Given the description of an element on the screen output the (x, y) to click on. 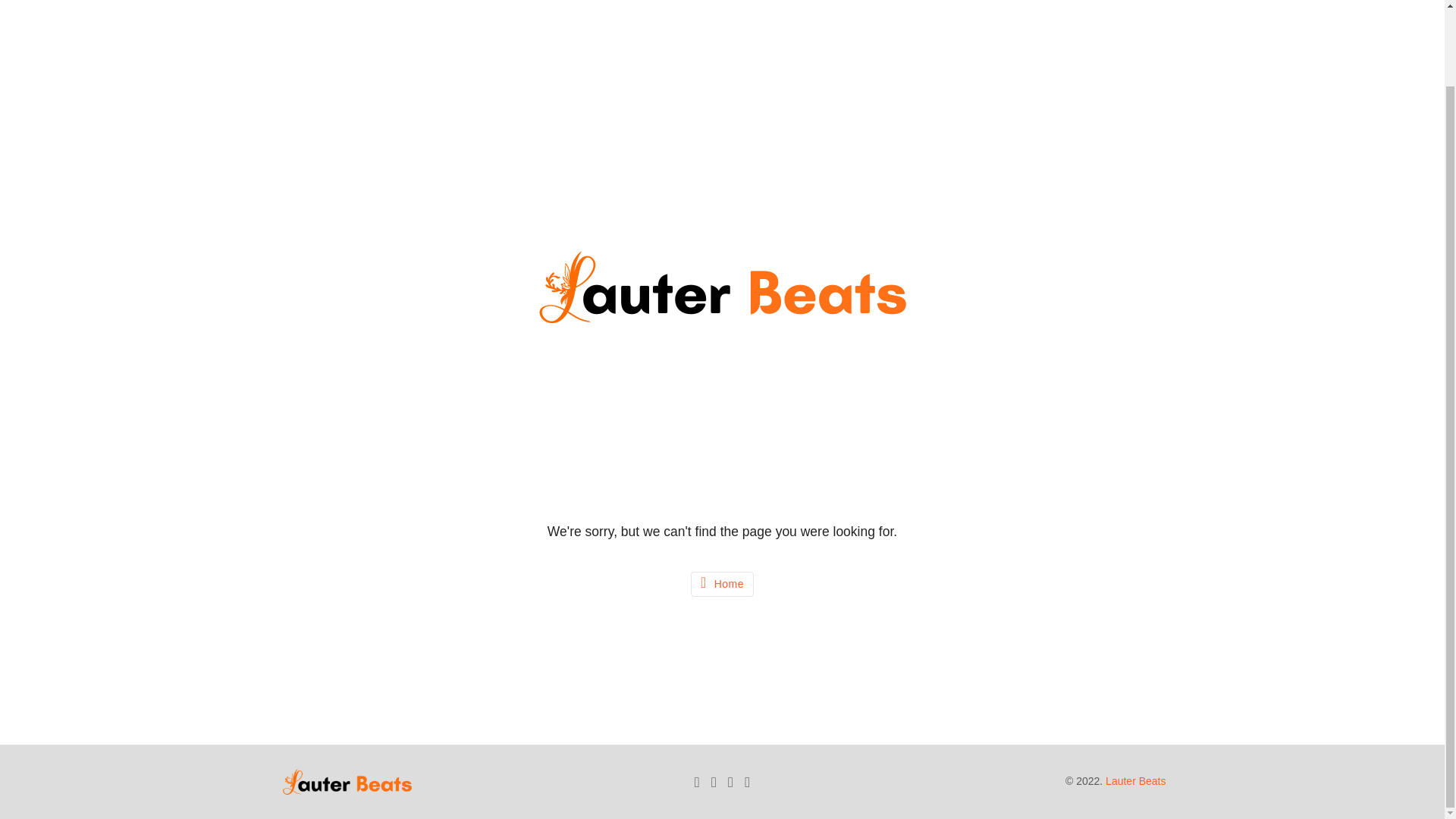
Home (722, 583)
Lauter Beats (1135, 780)
